Given the description of an element on the screen output the (x, y) to click on. 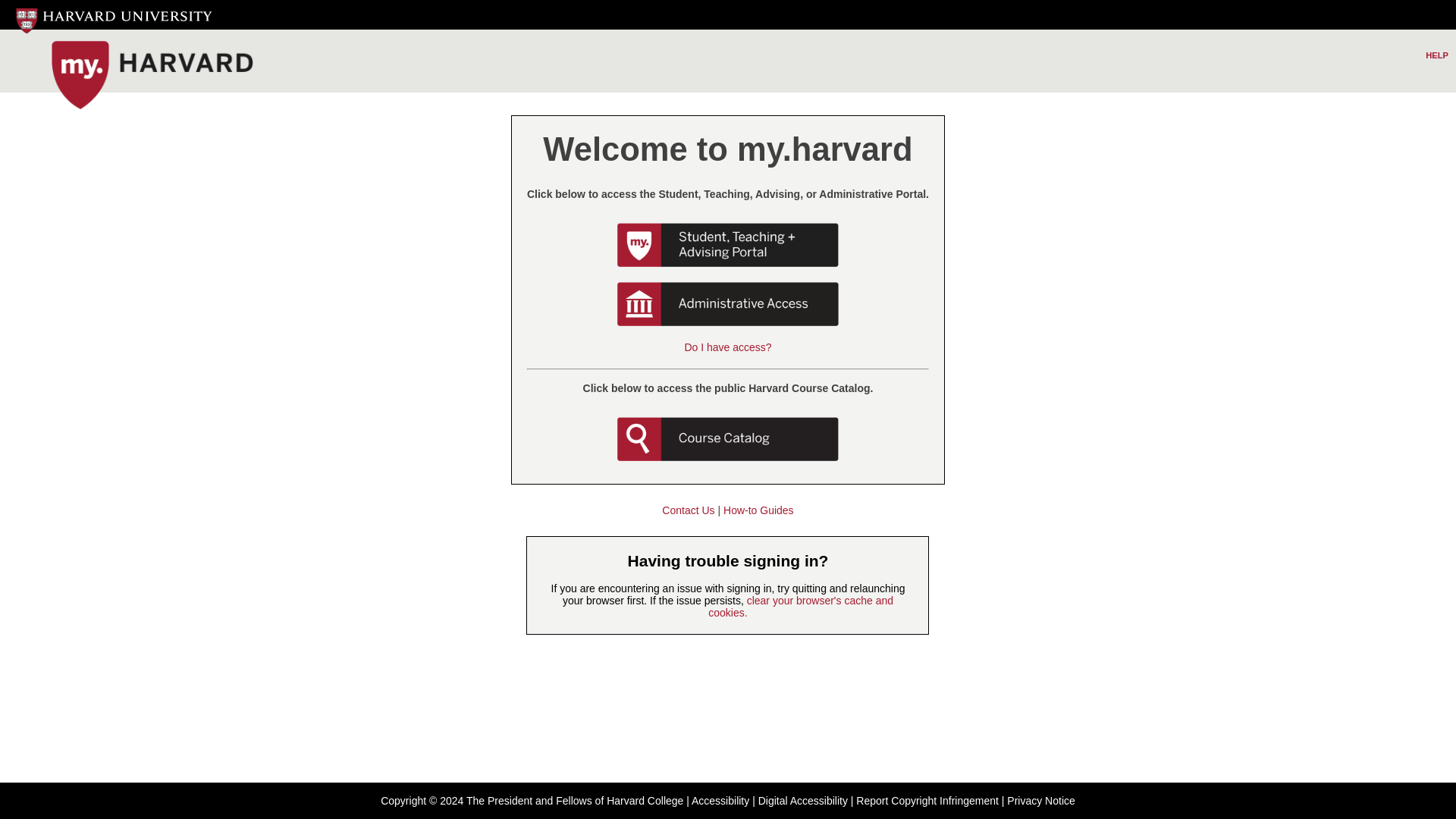
Contact Us (688, 510)
Do I have access? (727, 346)
click here (800, 606)
How-to Guides (758, 510)
clear your browser's cache and cookies. (800, 606)
How-to Guides (758, 510)
Do I have access? (727, 346)
Admin (727, 303)
Course Catalog (727, 438)
